Given the description of an element on the screen output the (x, y) to click on. 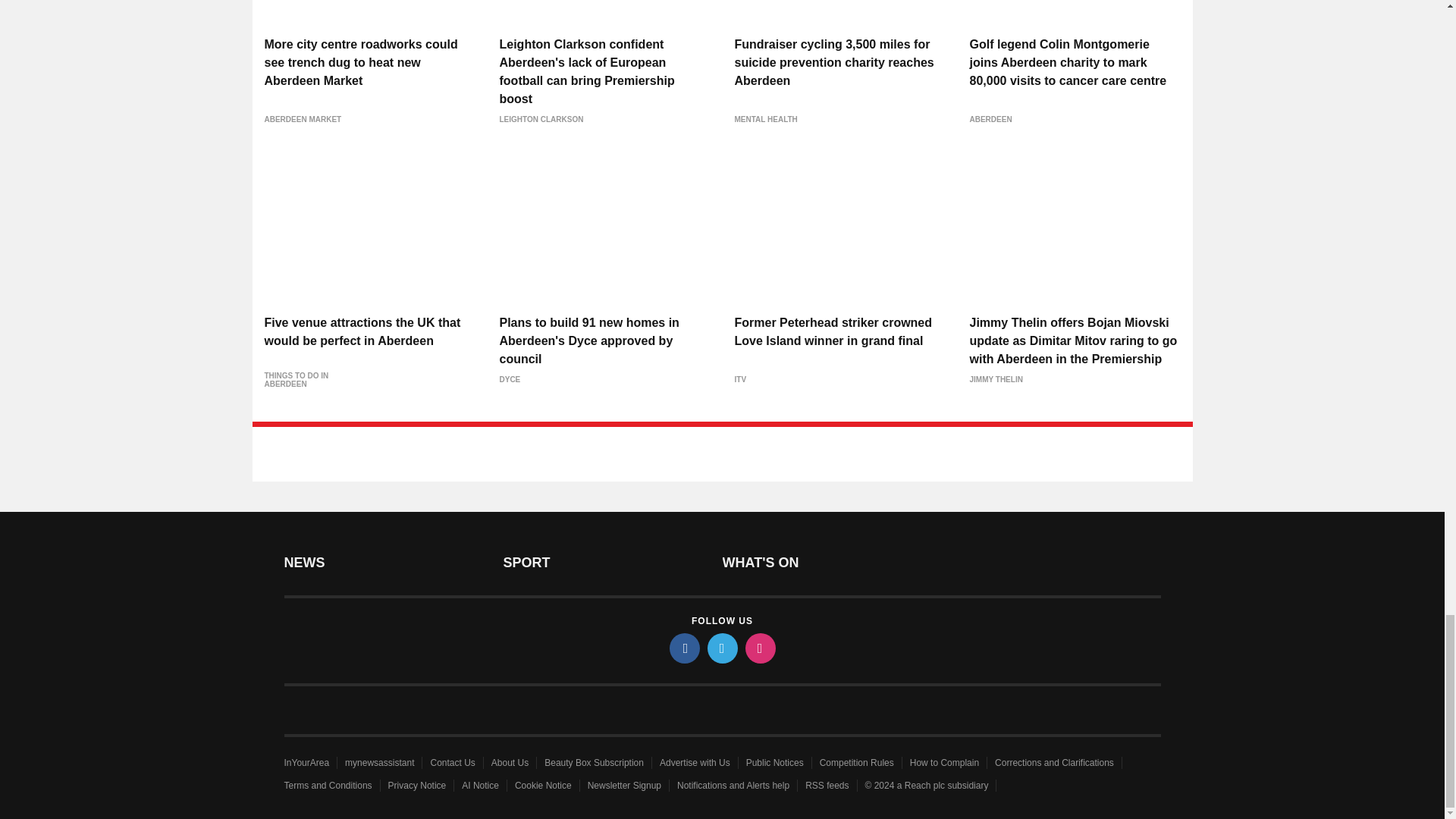
twitter (721, 648)
facebook (683, 648)
instagram (759, 648)
